Given the description of an element on the screen output the (x, y) to click on. 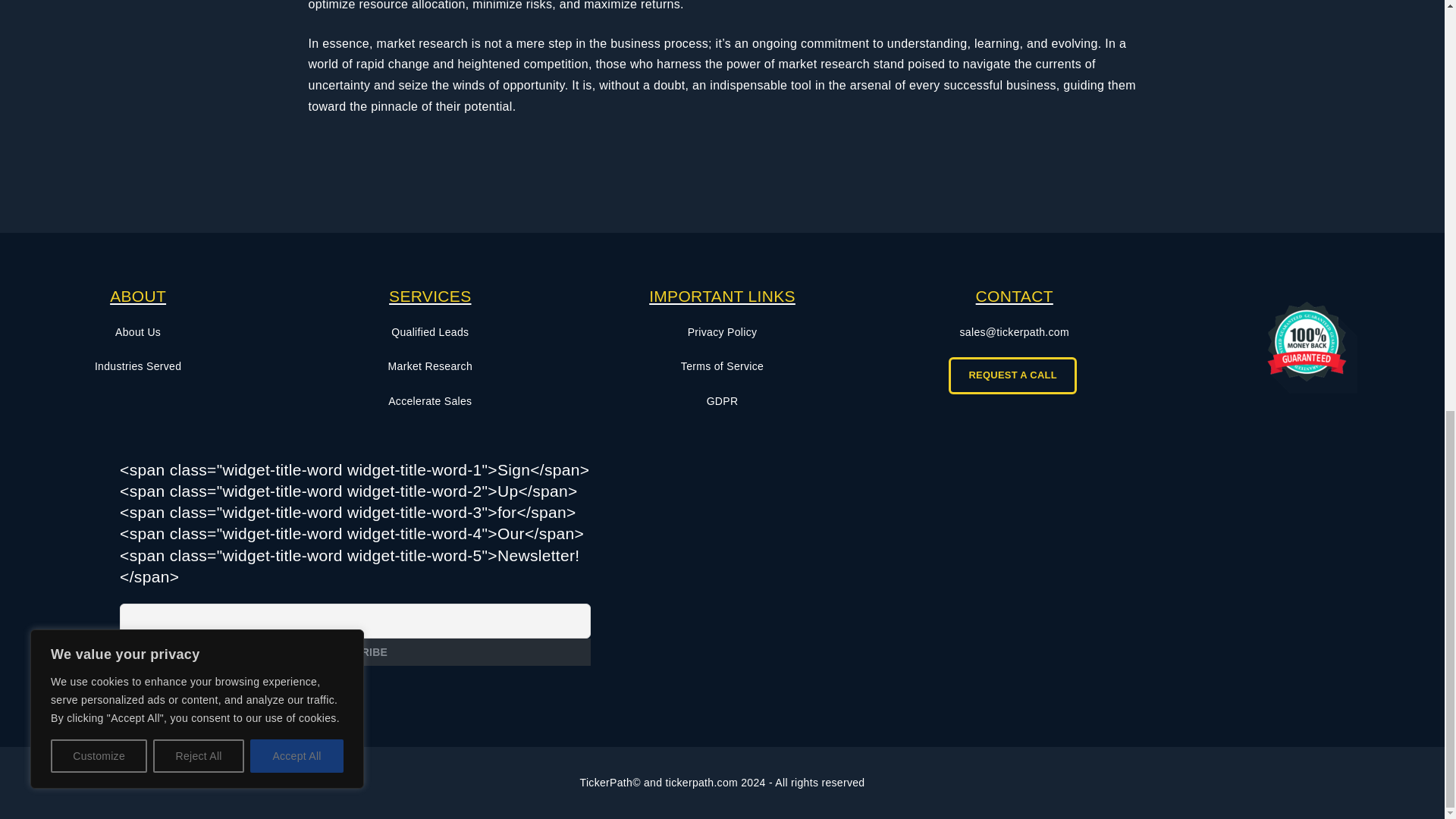
Subscribe (355, 651)
